Given the description of an element on the screen output the (x, y) to click on. 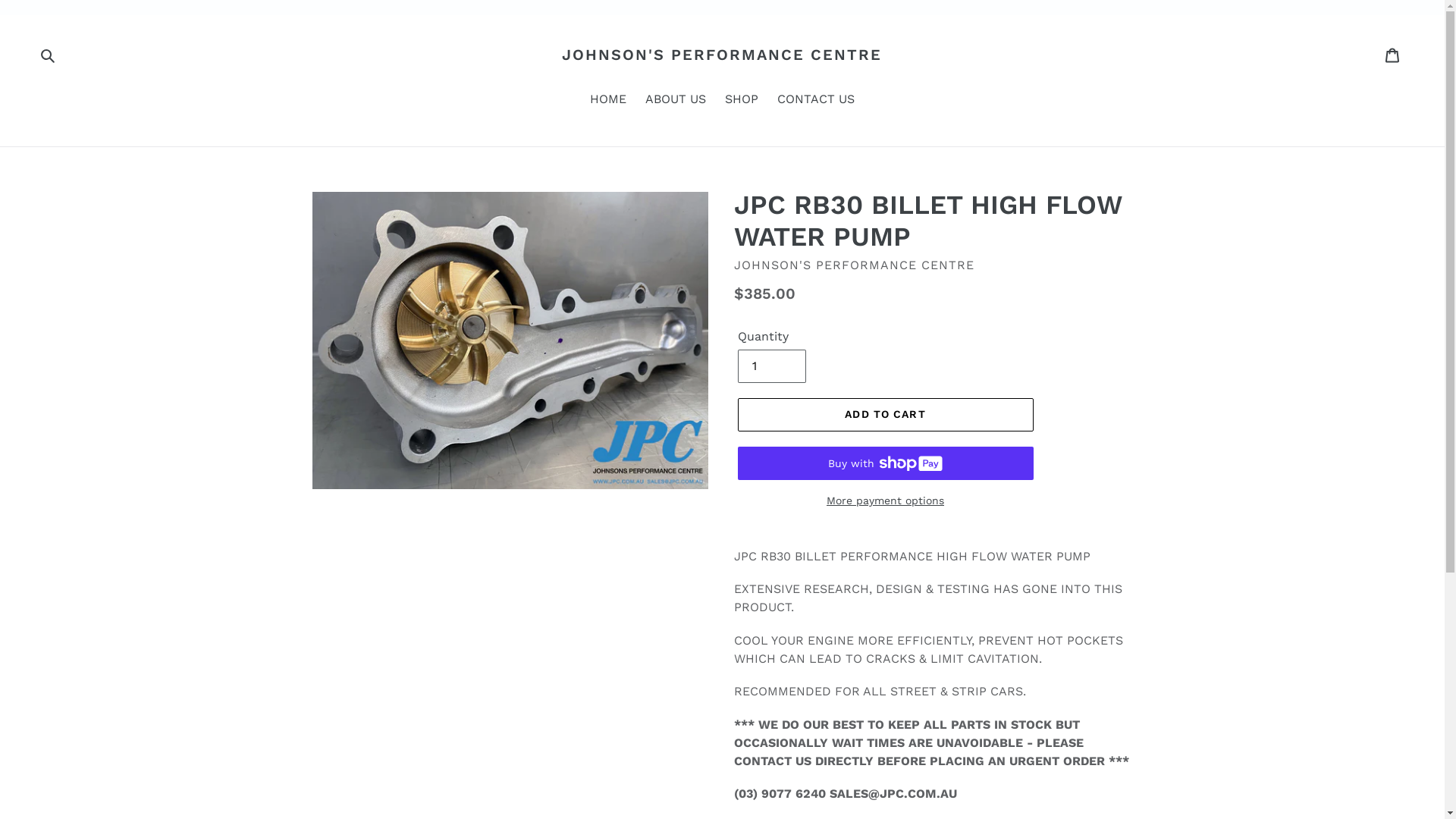
SHOP Element type: text (741, 100)
ABOUT US Element type: text (675, 100)
CONTACT US Element type: text (815, 100)
ADD TO CART Element type: text (884, 414)
More payment options Element type: text (884, 500)
HOME Element type: text (607, 100)
JOHNSON'S PERFORMANCE CENTRE Element type: text (721, 54)
Submit Element type: text (47, 54)
Cart Element type: text (1393, 54)
